Given the description of an element on the screen output the (x, y) to click on. 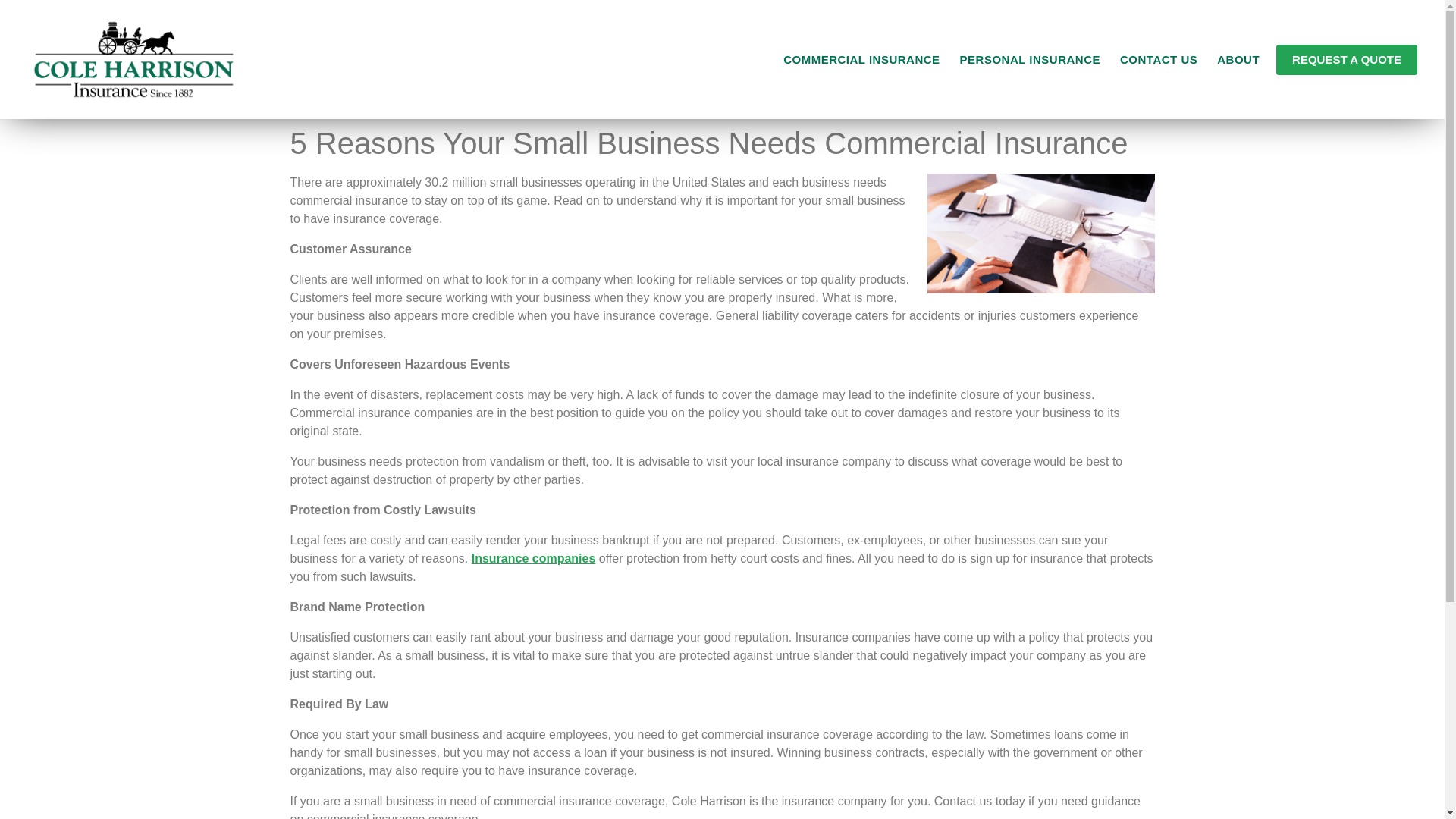
ABOUT (1238, 59)
PERSONAL INSURANCE (1029, 59)
CONTACT US (1158, 59)
COMMERCIAL INSURANCE (861, 59)
